Given the description of an element on the screen output the (x, y) to click on. 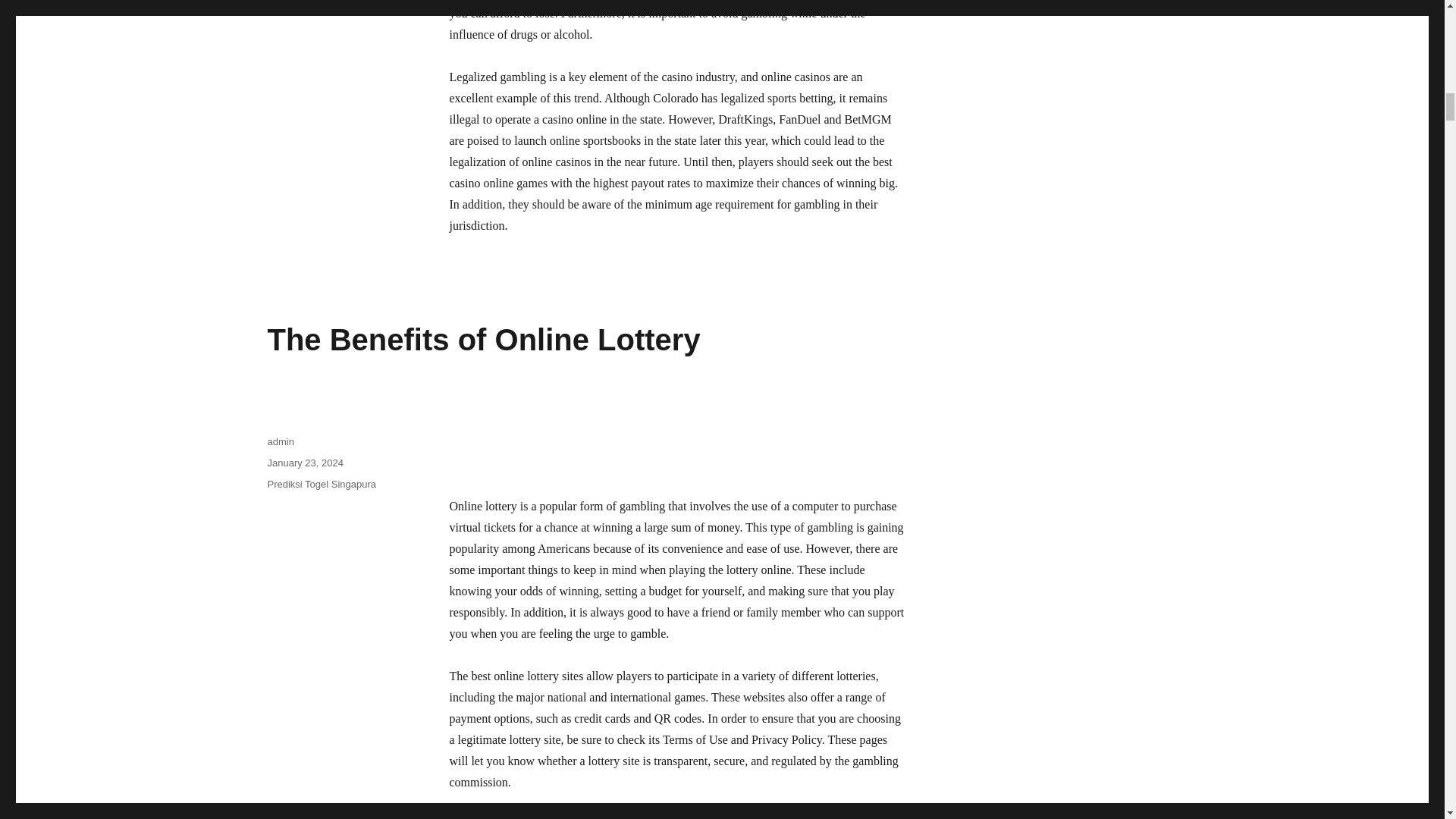
Prediksi Togel Singapura (320, 483)
January 23, 2024 (304, 462)
The Benefits of Online Lottery (483, 339)
admin (280, 441)
